Given the description of an element on the screen output the (x, y) to click on. 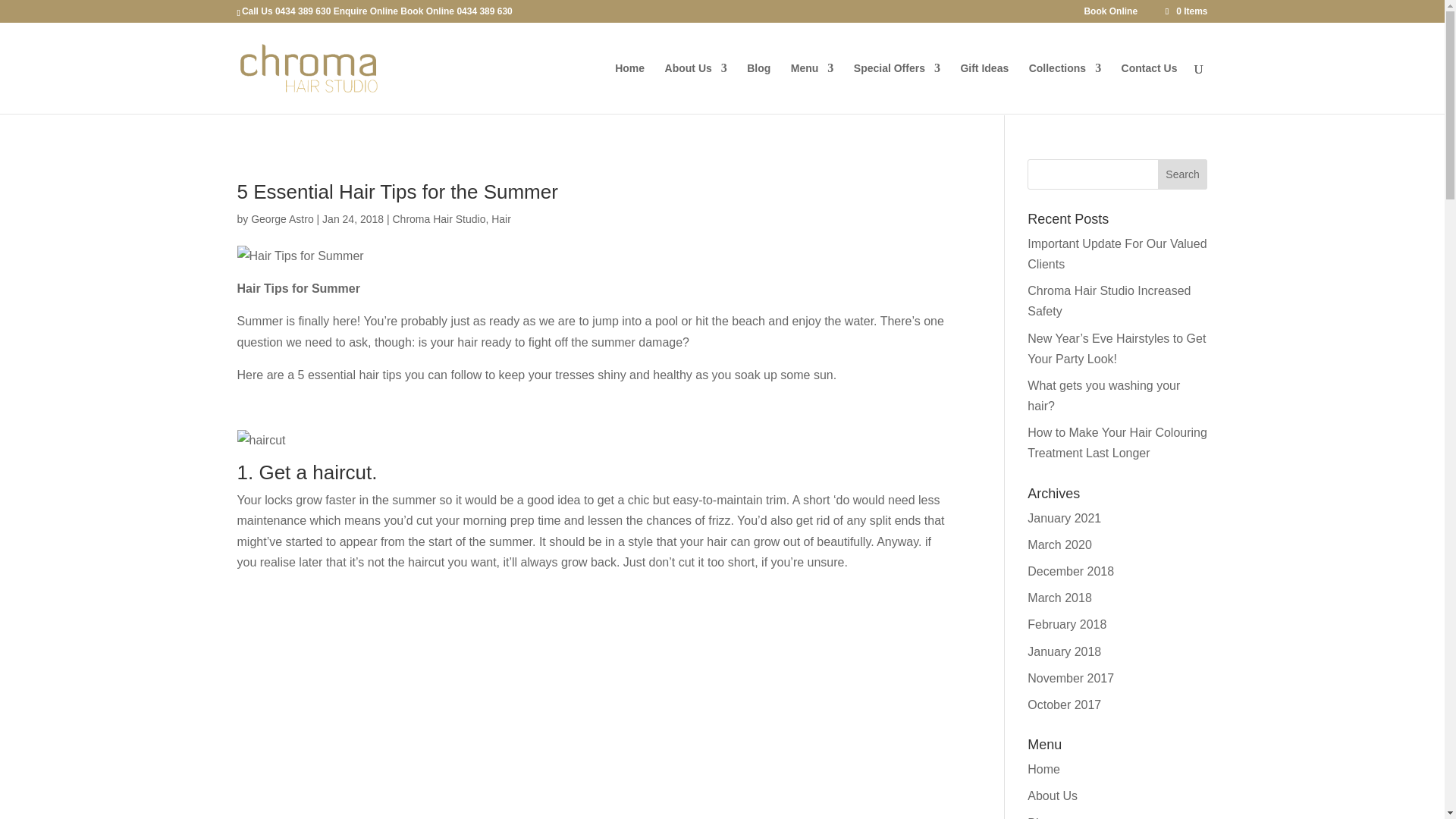
0 Items (1184, 10)
ENQUIRE ONLINE (65, 15)
Book Online (427, 10)
Special Offers (896, 88)
Call Us (257, 10)
Enquire Online (365, 10)
Search (1182, 173)
0434 389 630 (302, 10)
Book Online (1110, 14)
0434 389 630 (484, 10)
Posts by George Astro (282, 218)
About Us (695, 88)
